Given the description of an element on the screen output the (x, y) to click on. 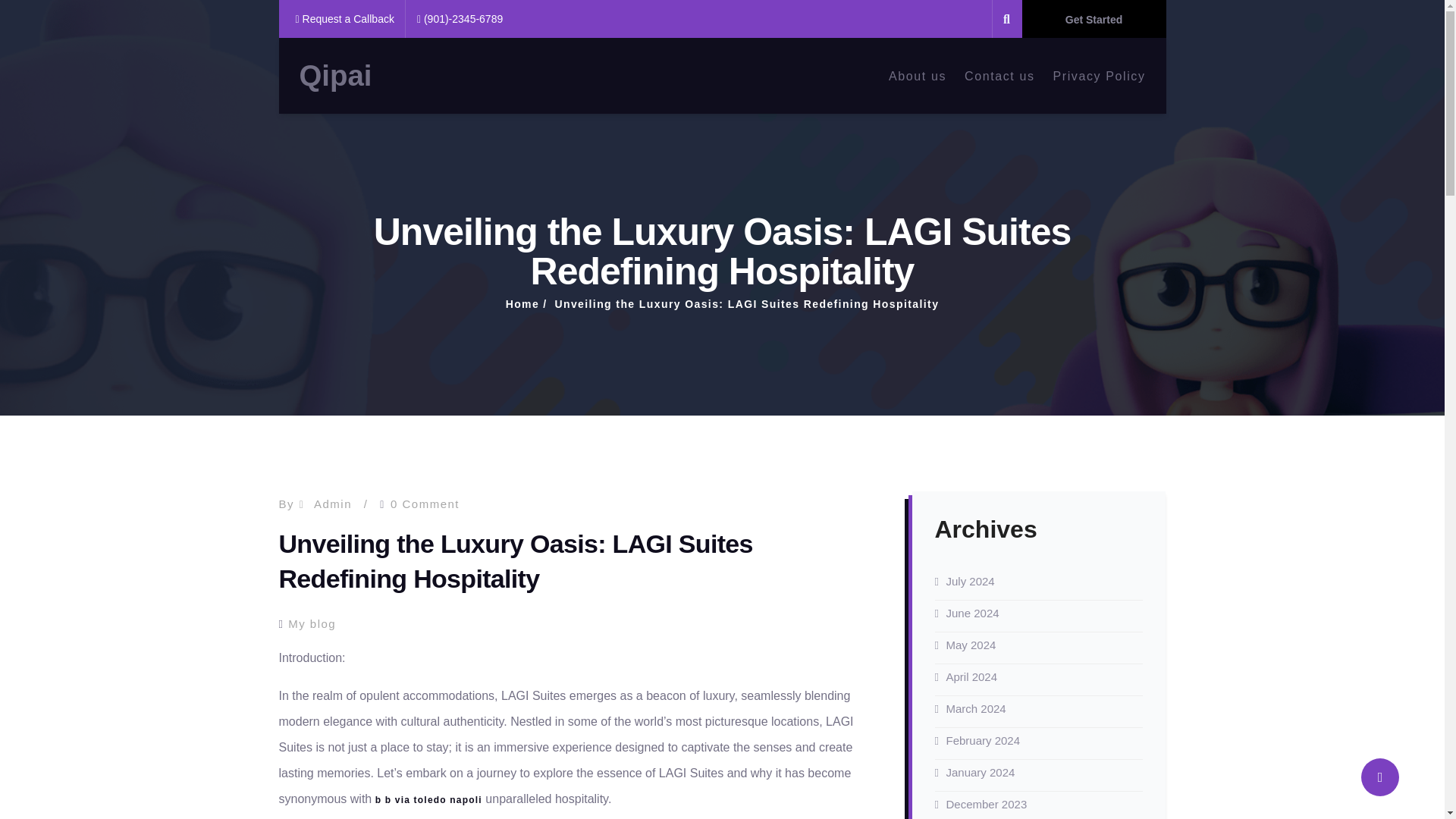
July 2024 (970, 581)
Get Started (1094, 18)
June 2024 (972, 612)
February 2024 (983, 739)
April 2024 (971, 676)
December 2023 (986, 803)
January 2024 (980, 771)
0 Comment (425, 503)
Home (522, 304)
About us (917, 74)
My blog (312, 623)
Contact us (998, 74)
March 2024 (976, 707)
Qipai (334, 75)
